Given the description of an element on the screen output the (x, y) to click on. 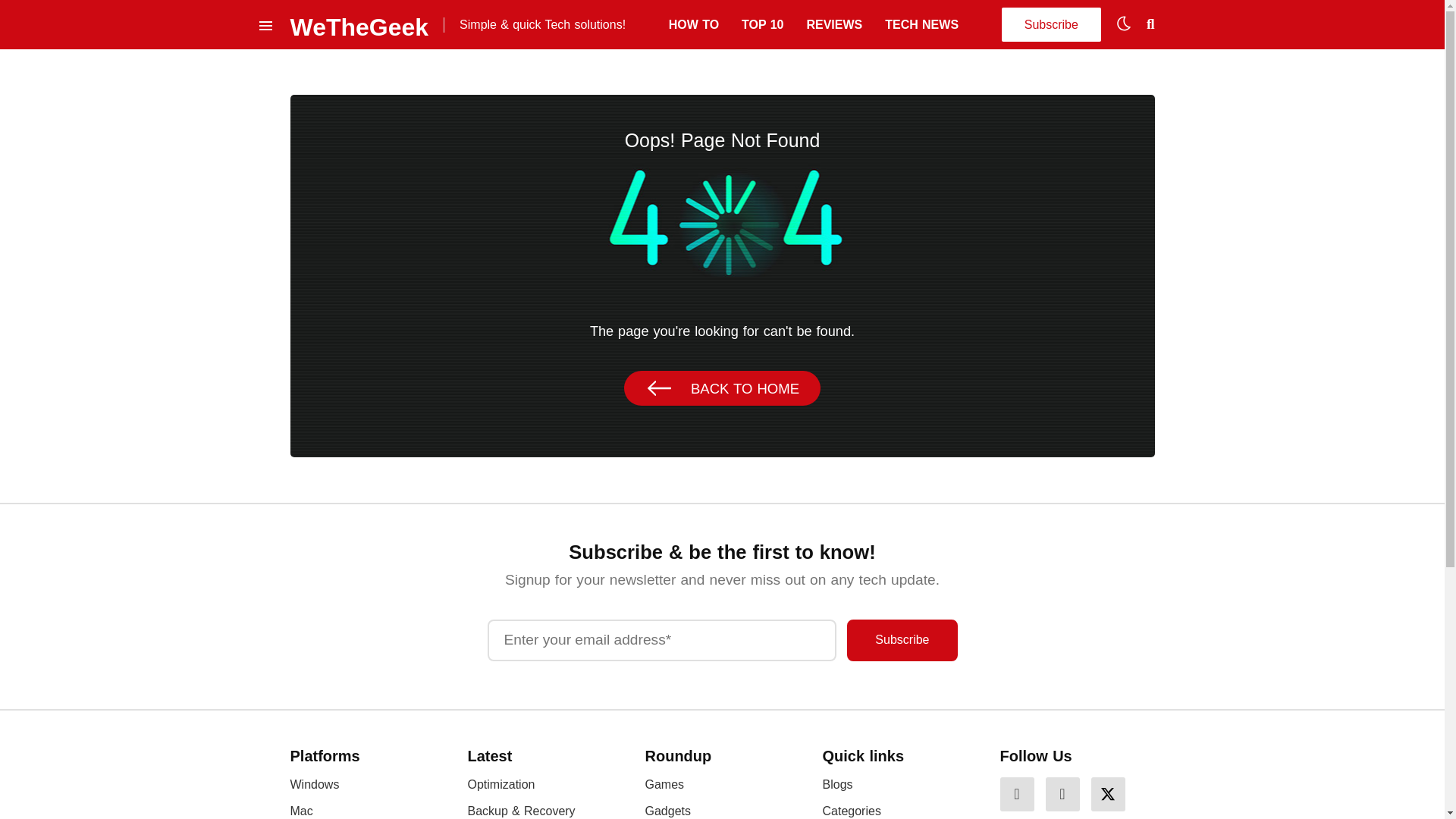
Mac (301, 810)
Windows (314, 784)
HOW TO (693, 24)
REVIEWS (833, 24)
BACK TO HOME (722, 388)
TOP 10 (762, 24)
WeTheGeek (358, 24)
TECH NEWS (921, 24)
Subscribe (901, 639)
Subscribe (901, 639)
